Given the description of an element on the screen output the (x, y) to click on. 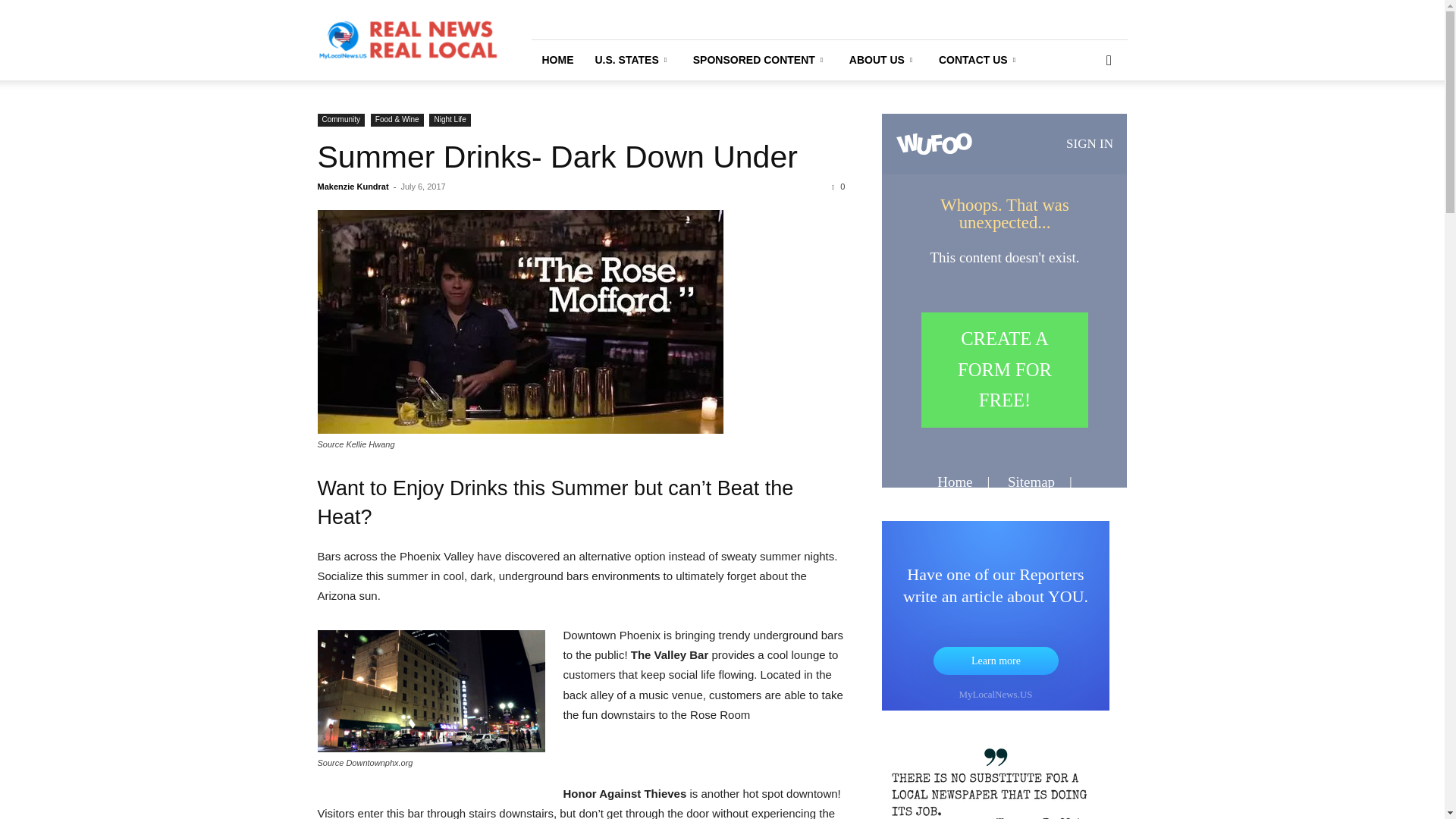
Dark Down Bar (430, 690)
Summer Drinks- Dark Down Under (556, 156)
Summer Drinks- Dark Down Under (519, 321)
